Given the description of an element on the screen output the (x, y) to click on. 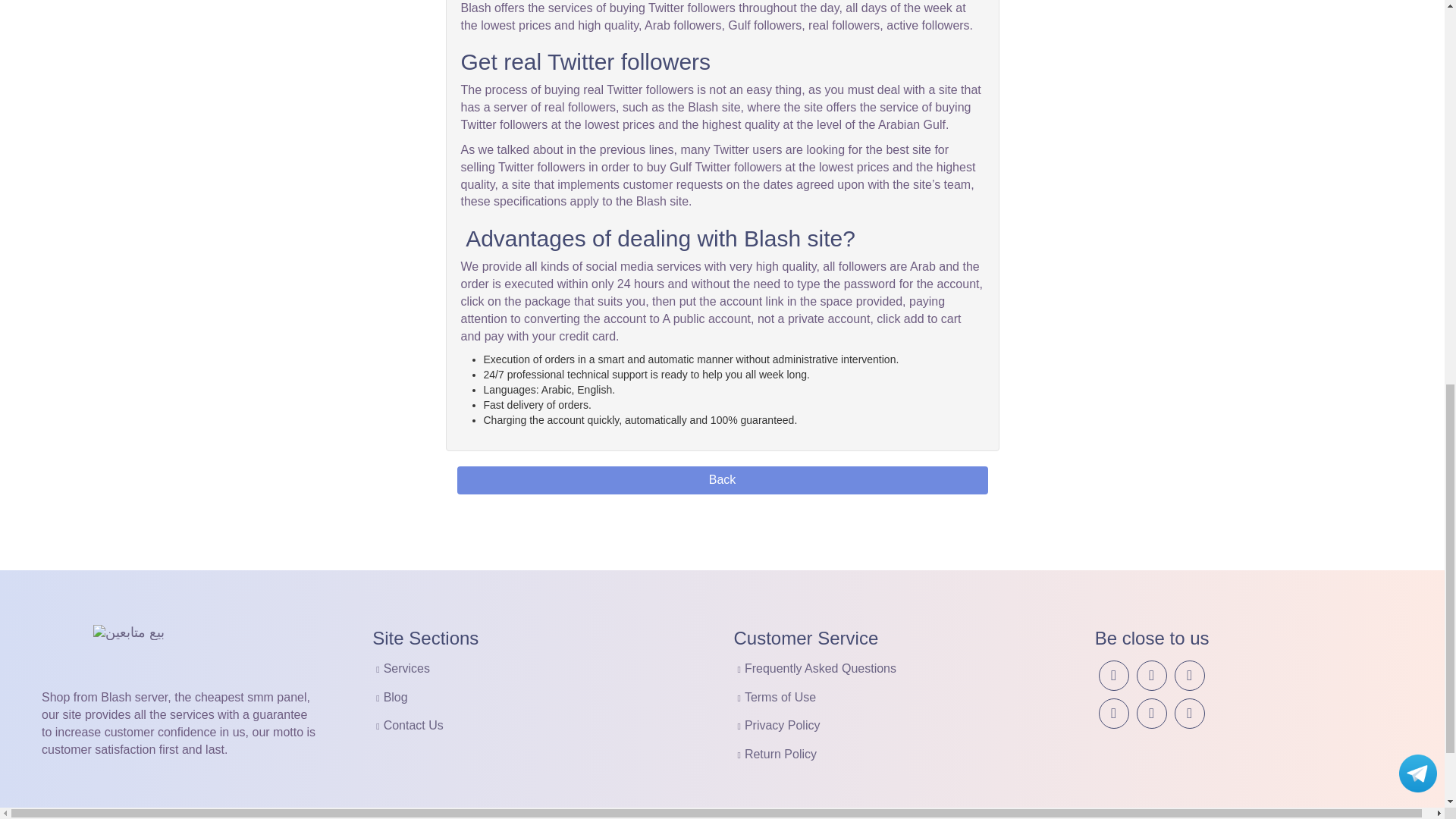
Terms of Use (779, 697)
Contact Us (414, 725)
Back (722, 480)
Services (406, 667)
Frequently Asked Questions (820, 667)
Blog (395, 697)
Return Policy (780, 753)
Privacy Policy (782, 725)
